Given the description of an element on the screen output the (x, y) to click on. 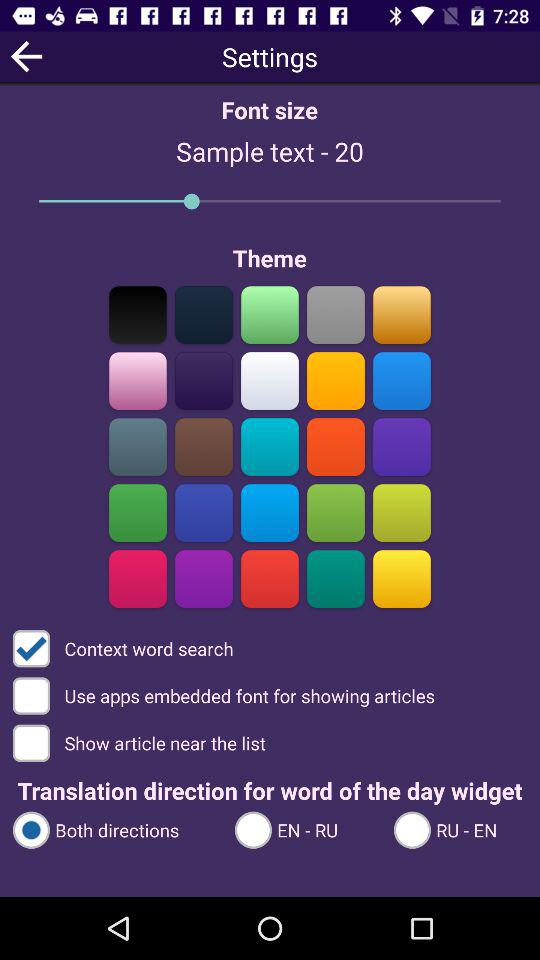
select theme color (335, 314)
